Given the description of an element on the screen output the (x, y) to click on. 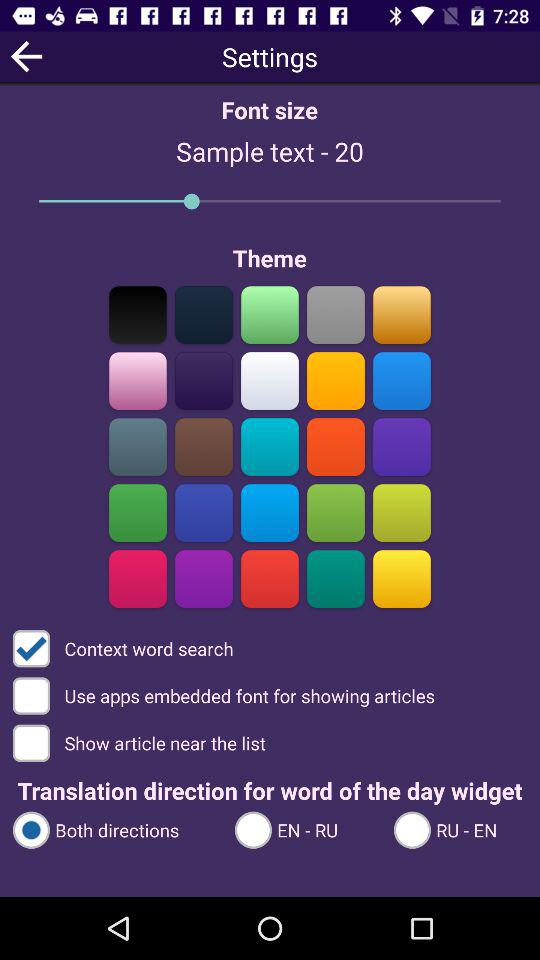
select theme color (335, 314)
